Given the description of an element on the screen output the (x, y) to click on. 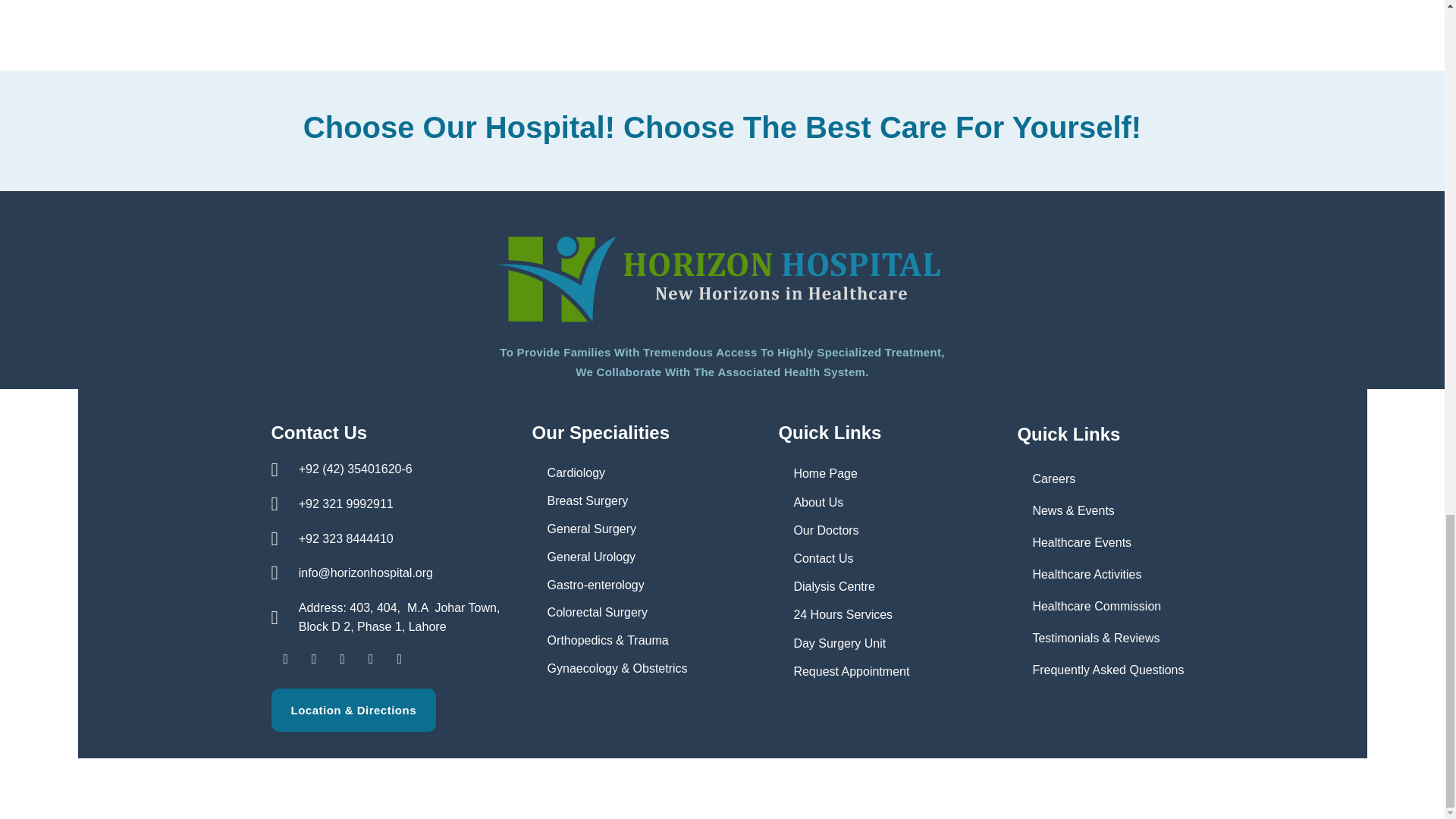
Logo2.png (722, 274)
